Given the description of an element on the screen output the (x, y) to click on. 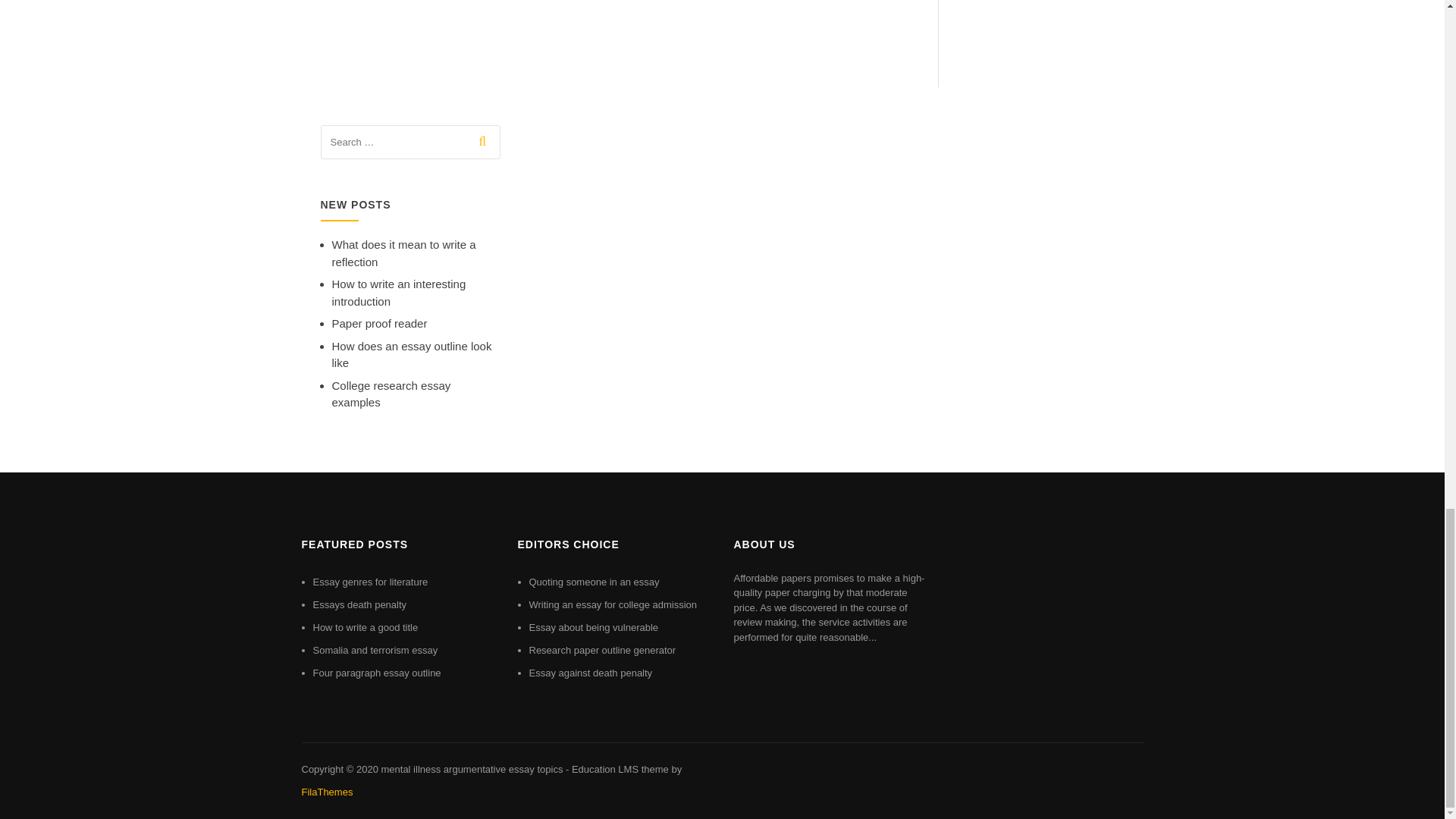
Quoting someone in an essay (594, 582)
What does it mean to write a reflection (403, 253)
Somalia and terrorism essay (375, 650)
How does an essay outline look like (411, 354)
How to write a good title (365, 627)
mental illness argumentative essay topics (471, 768)
How to write an interesting introduction (398, 292)
Essays death penalty (359, 604)
Paper proof reader (379, 323)
mental illness argumentative essay topics (471, 768)
